Given the description of an element on the screen output the (x, y) to click on. 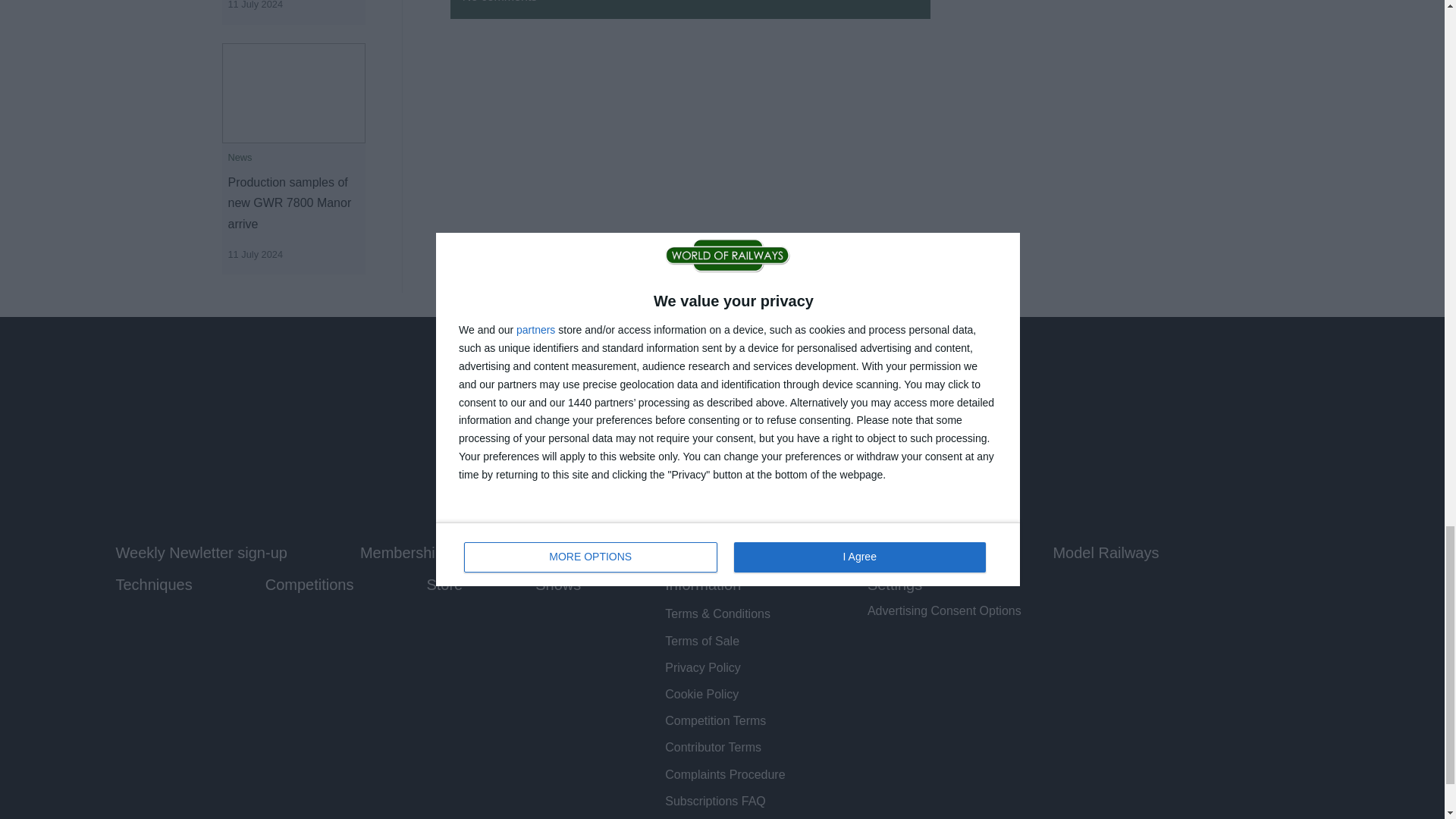
View your Advertising Consent options for this website (944, 610)
